Given the description of an element on the screen output the (x, y) to click on. 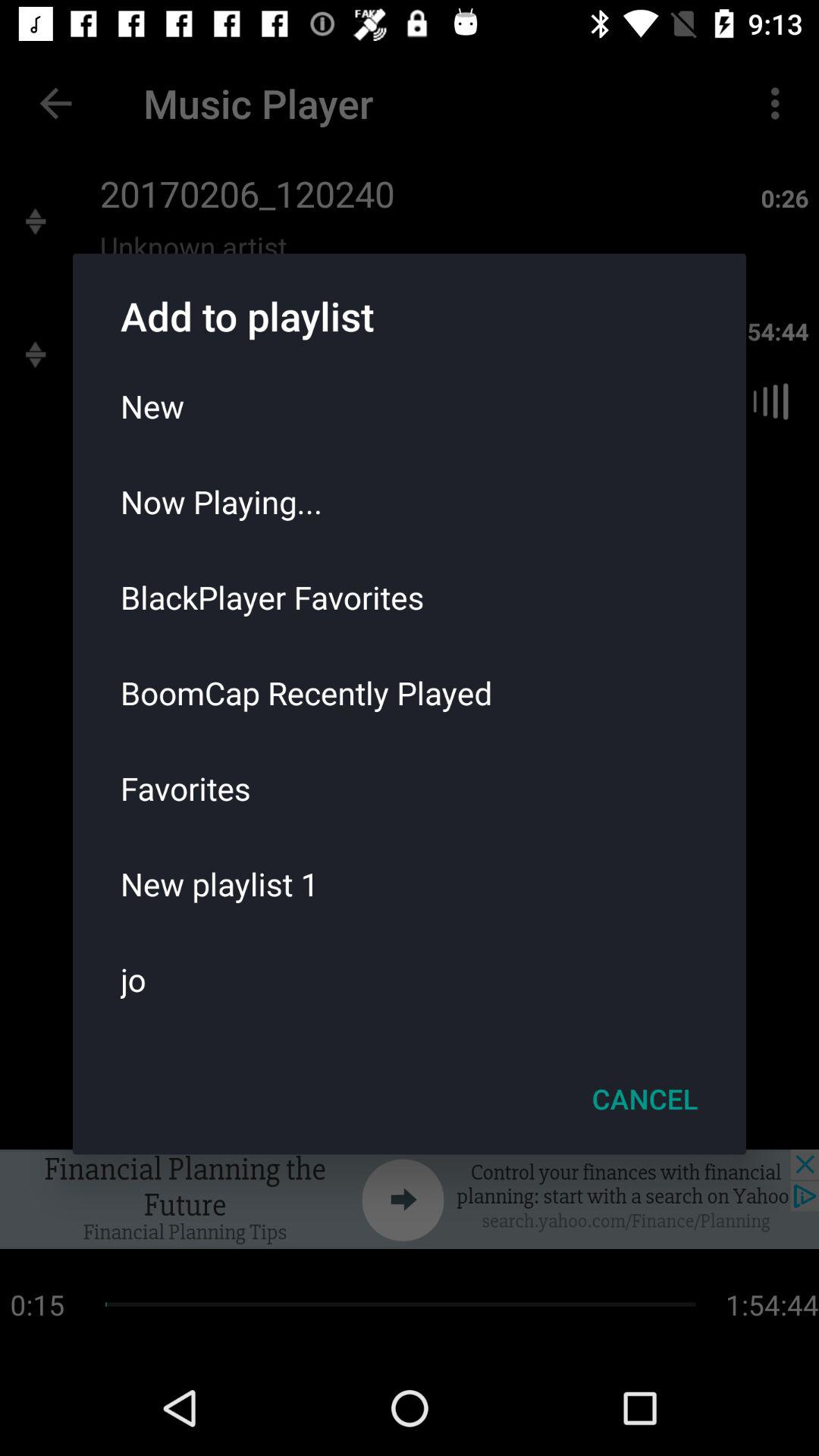
choose the cancel icon (645, 1098)
